Given the description of an element on the screen output the (x, y) to click on. 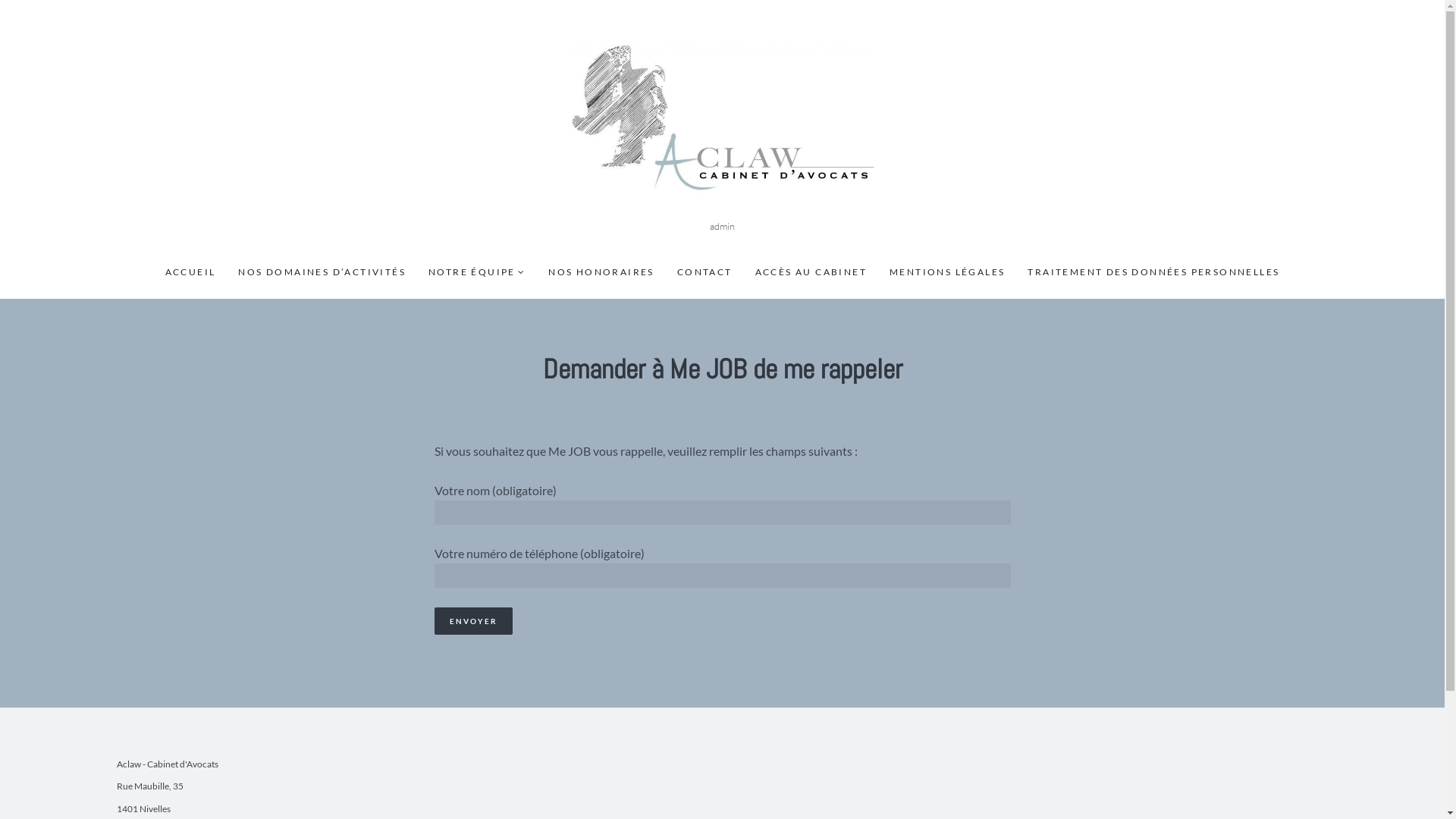
CONTACT Element type: text (704, 271)
ACCUEIL Element type: text (190, 271)
Envoyer Element type: text (472, 620)
NOS HONORAIRES Element type: text (601, 271)
